Given the description of an element on the screen output the (x, y) to click on. 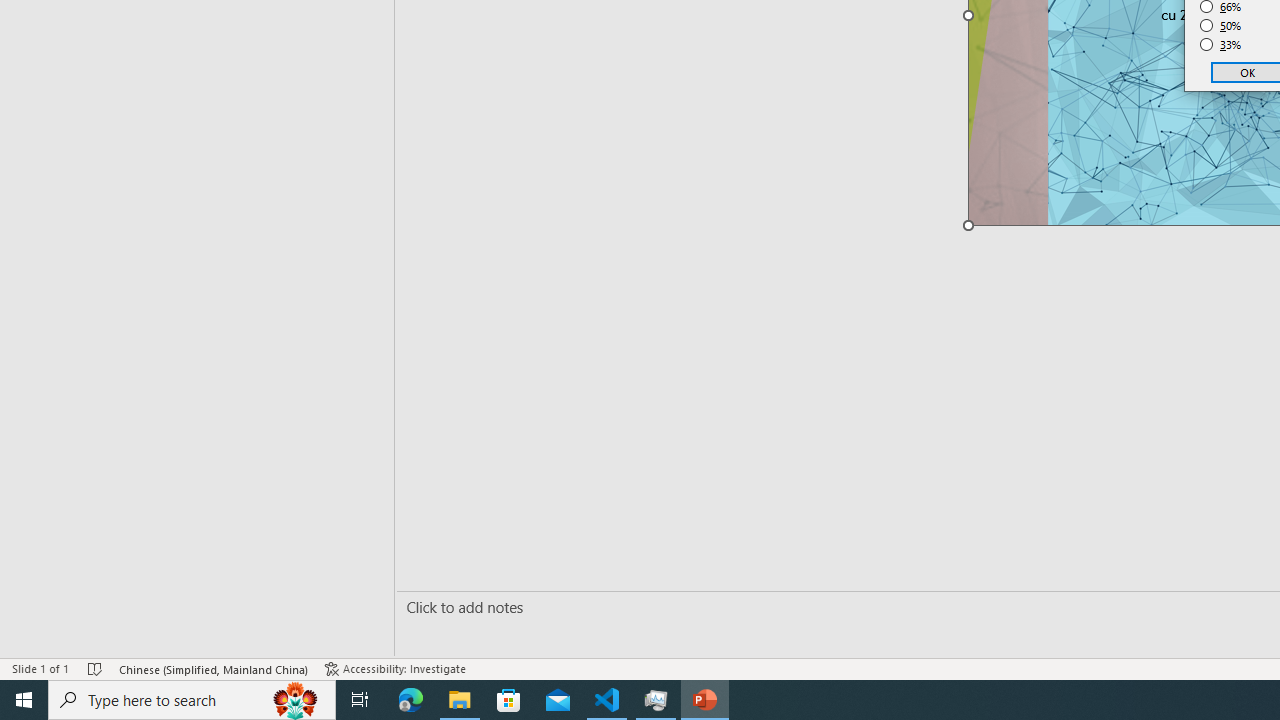
Task Manager - 1 running window (656, 699)
File Explorer - 1 running window (460, 699)
33% (1221, 44)
50% (1221, 25)
